Given the description of an element on the screen output the (x, y) to click on. 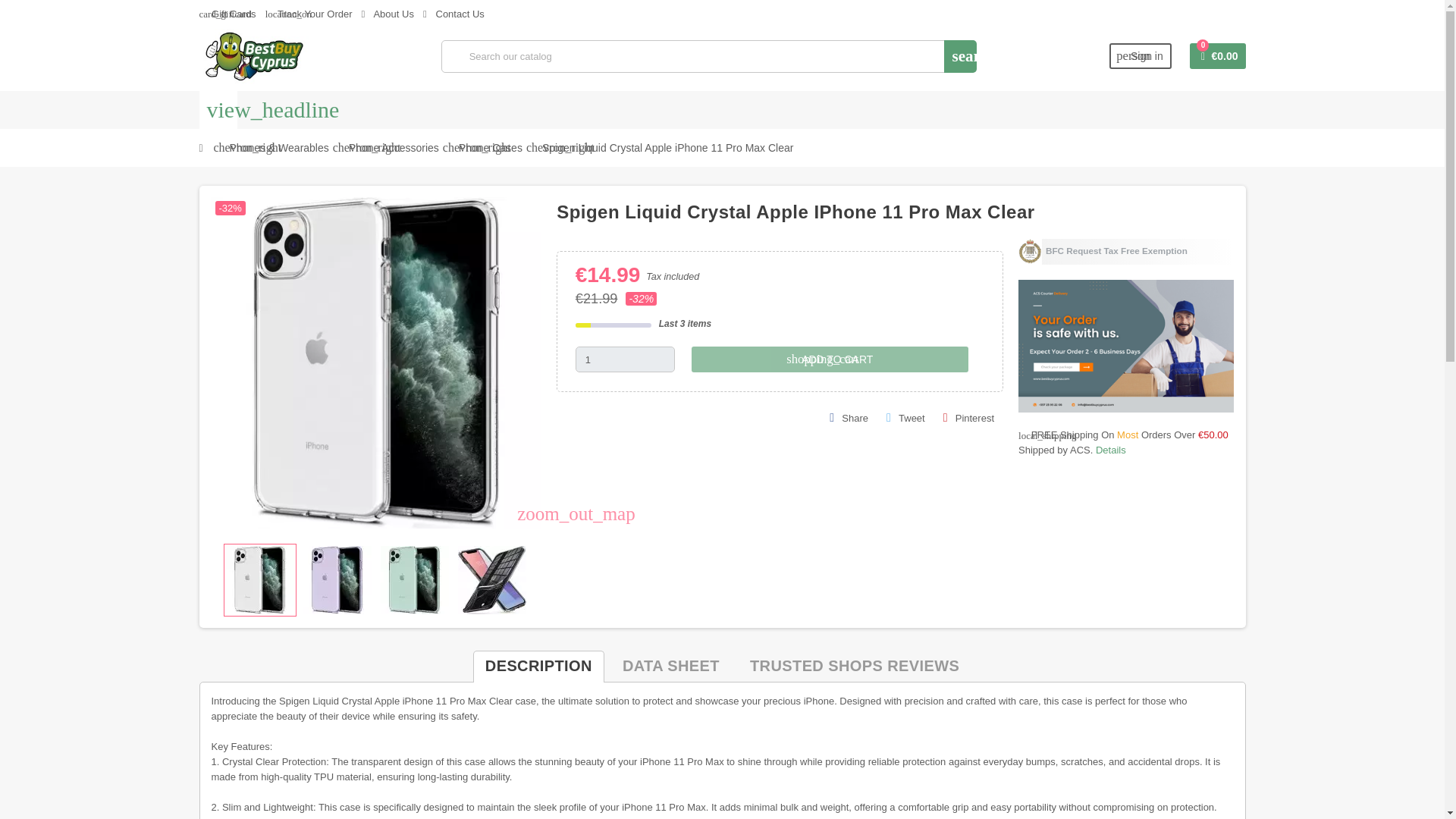
About Us (387, 13)
search (959, 56)
Tweet (905, 418)
1 (625, 359)
BFC Request Tax Free Exemption (1125, 251)
Share (849, 418)
DESCRIPTION (538, 666)
Phone Accessories (393, 147)
Log in to your customer account (1140, 56)
TRUSTED SHOPS REVIEWS (854, 666)
